Given the description of an element on the screen output the (x, y) to click on. 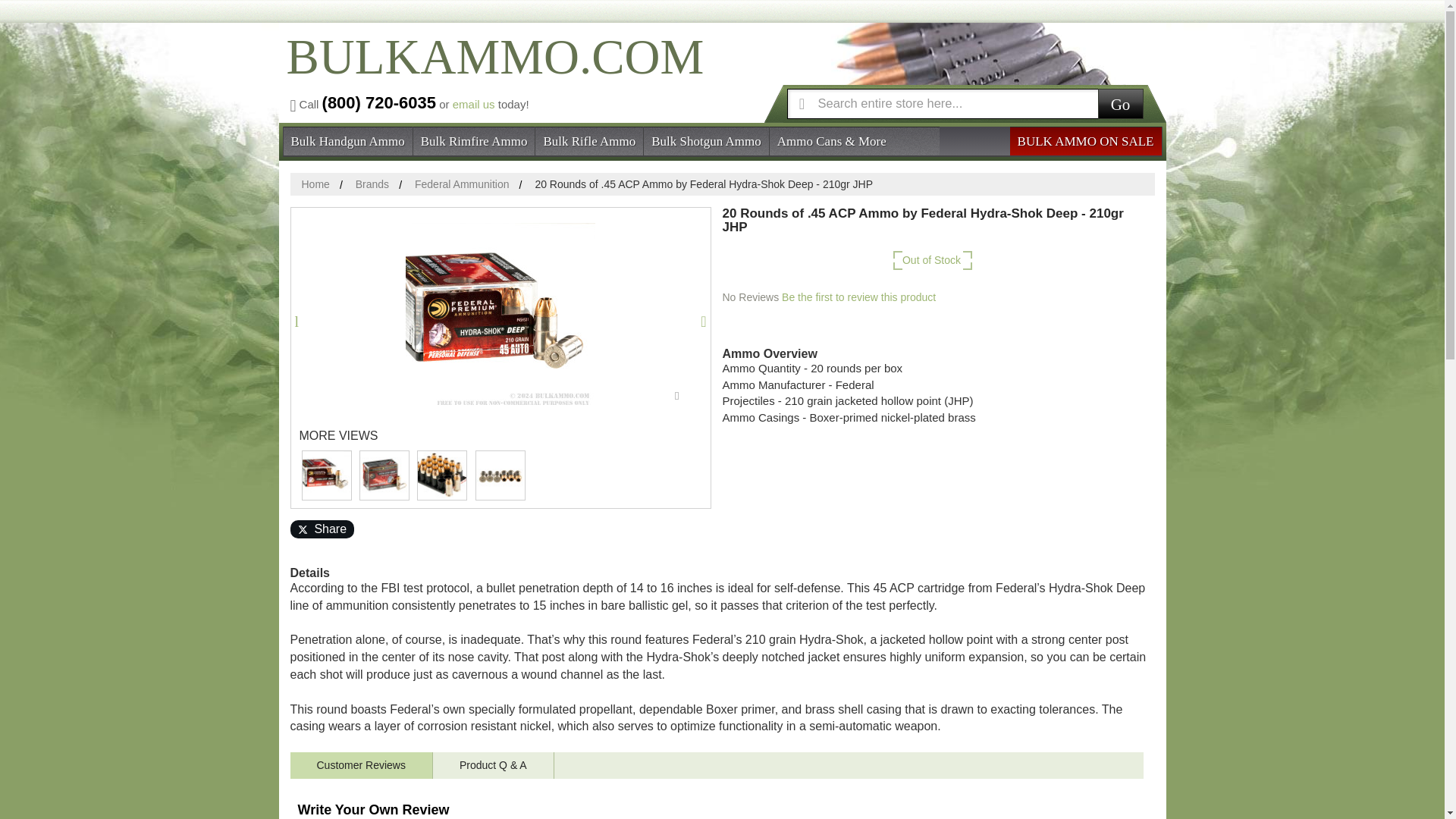
Bulk Ammo For Sale (491, 69)
Home (315, 183)
Federal Ammunition (461, 183)
Go (1119, 102)
Brands (371, 183)
Go (1119, 102)
Bulk Rifle Ammo (589, 140)
Bulk Handgun Ammo (347, 140)
BULKAMMO.COM (491, 69)
email us (473, 103)
Bulk Rimfire Ammo (474, 140)
